Given the description of an element on the screen output the (x, y) to click on. 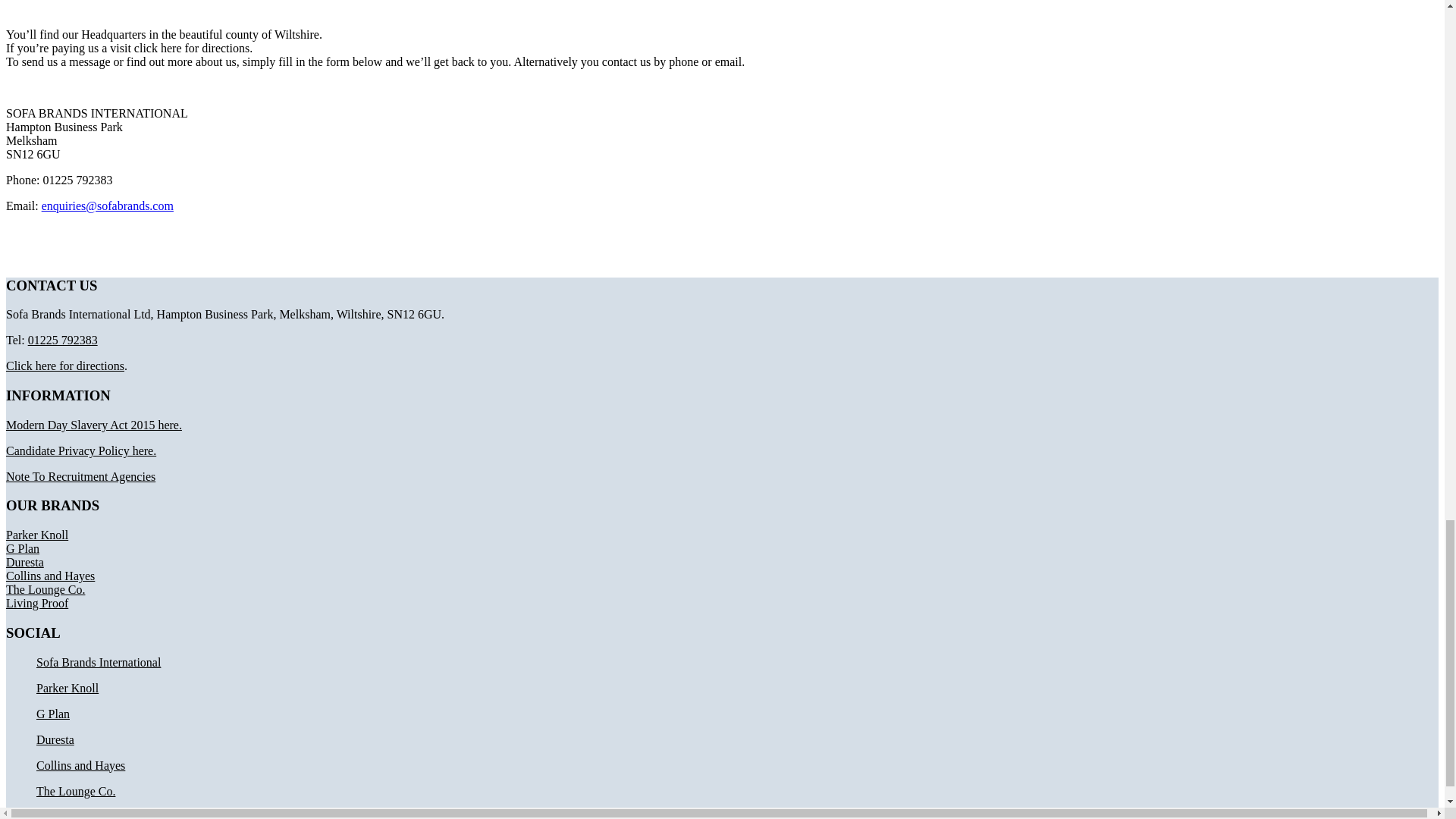
The Lounge Co. (44, 589)
Sofa Brands International (98, 662)
Duresta (24, 562)
Living Proof (36, 603)
G Plan (22, 548)
Parker Knoll (36, 534)
01225 792383 (62, 339)
Candidate Privacy Policy here. (80, 450)
Collins and Hayes (49, 575)
Modern Day Slavery Act 2015 here. (93, 424)
Parker Knoll (67, 687)
Note To Recruitment Agencies (80, 476)
Click here for directions (64, 365)
